Given the description of an element on the screen output the (x, y) to click on. 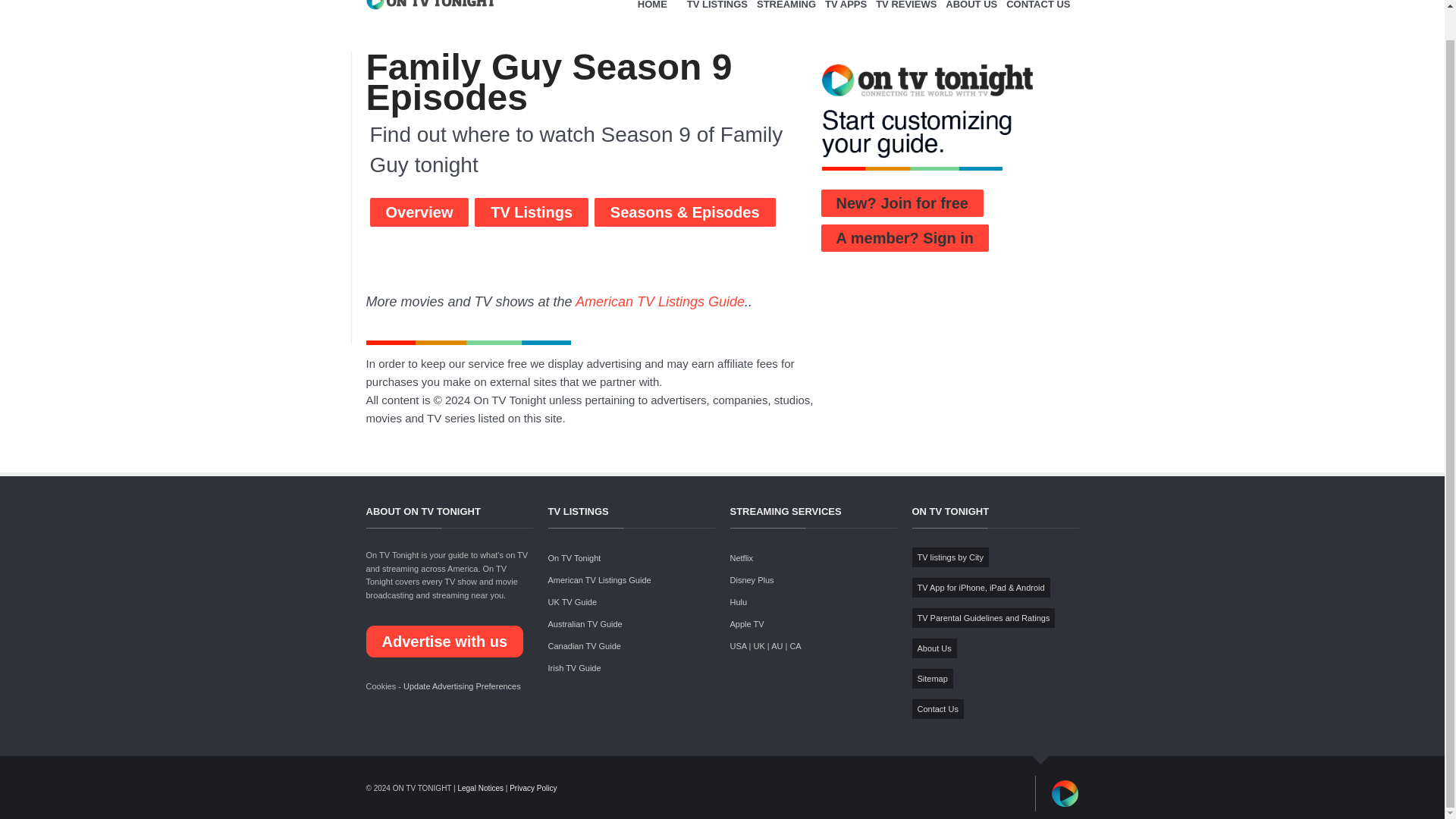
STREAMING (786, 18)
Overview (418, 212)
HOME (657, 18)
TV REVIEWS (905, 18)
CONTACT US (1037, 18)
TV Listings (531, 212)
ABOUT US (970, 18)
TV APPS (845, 18)
TV LISTINGS (717, 18)
